Given the description of an element on the screen output the (x, y) to click on. 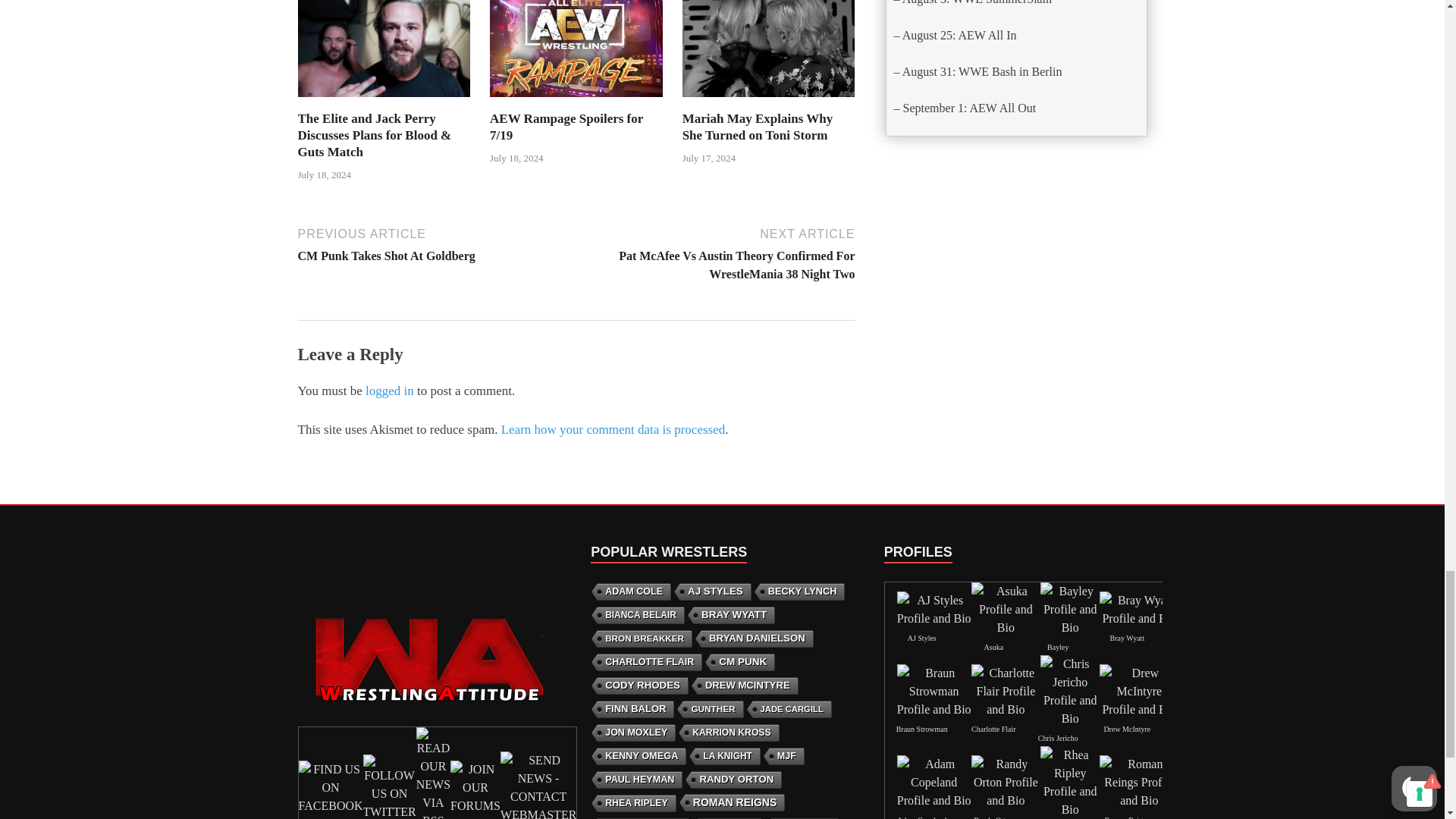
Mariah May Explains Why She Turned on Toni Storm (769, 101)
Mariah May Explains Why She Turned on Toni Storm (769, 48)
Mariah May Explains Why She Turned on Toni Storm (757, 126)
